Given the description of an element on the screen output the (x, y) to click on. 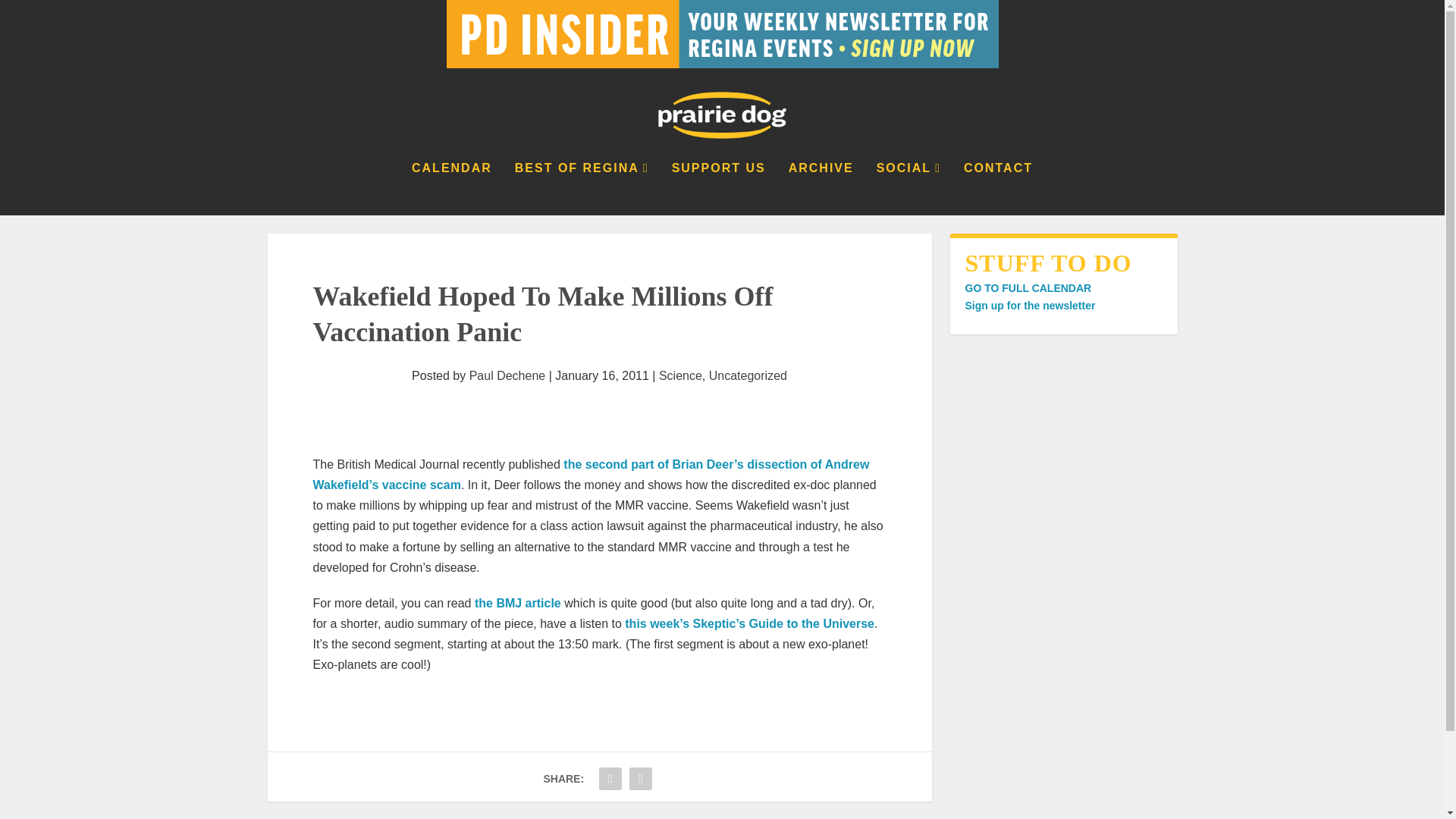
CALENDAR (452, 188)
CONTACT (997, 188)
Posts by Paul Dechene (507, 375)
ARCHIVE (821, 188)
Uncategorized (748, 375)
the BMJ article (517, 603)
Science (680, 375)
GO TO FULL CALENDAR (1026, 287)
Sign up for the newsletter (1028, 305)
SUPPORT US (718, 188)
BEST OF REGINA (582, 188)
SOCIAL (908, 188)
Paul Dechene (507, 375)
